Given the description of an element on the screen output the (x, y) to click on. 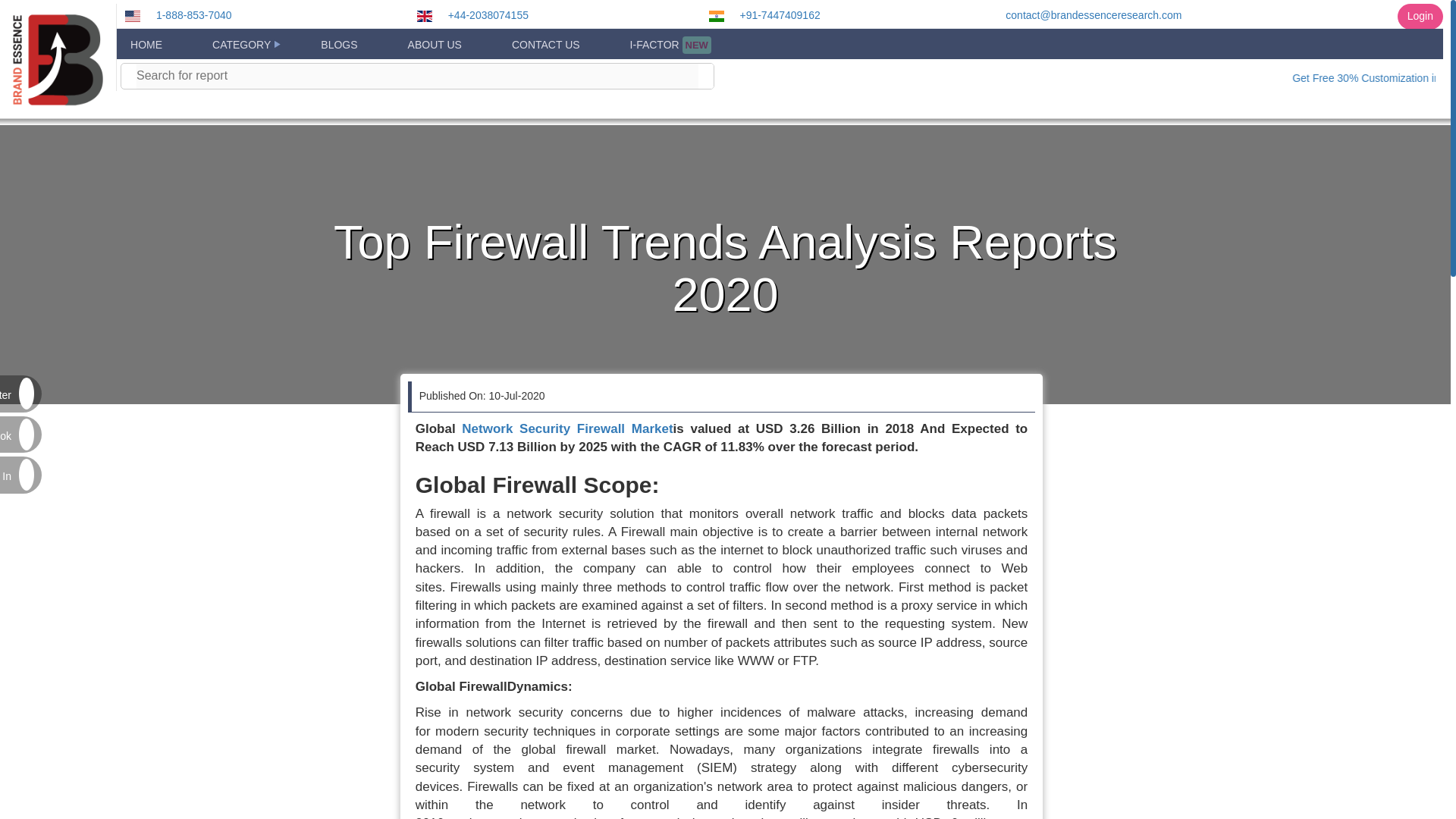
1-888-853-7040 (189, 14)
ABOUT US (434, 44)
Twitter (16, 395)
HOME (145, 44)
BLOGS (338, 44)
I-FACTOR NEW (670, 44)
Login (1419, 16)
CATEGORY (241, 44)
CONTACT US (545, 44)
